Given the description of an element on the screen output the (x, y) to click on. 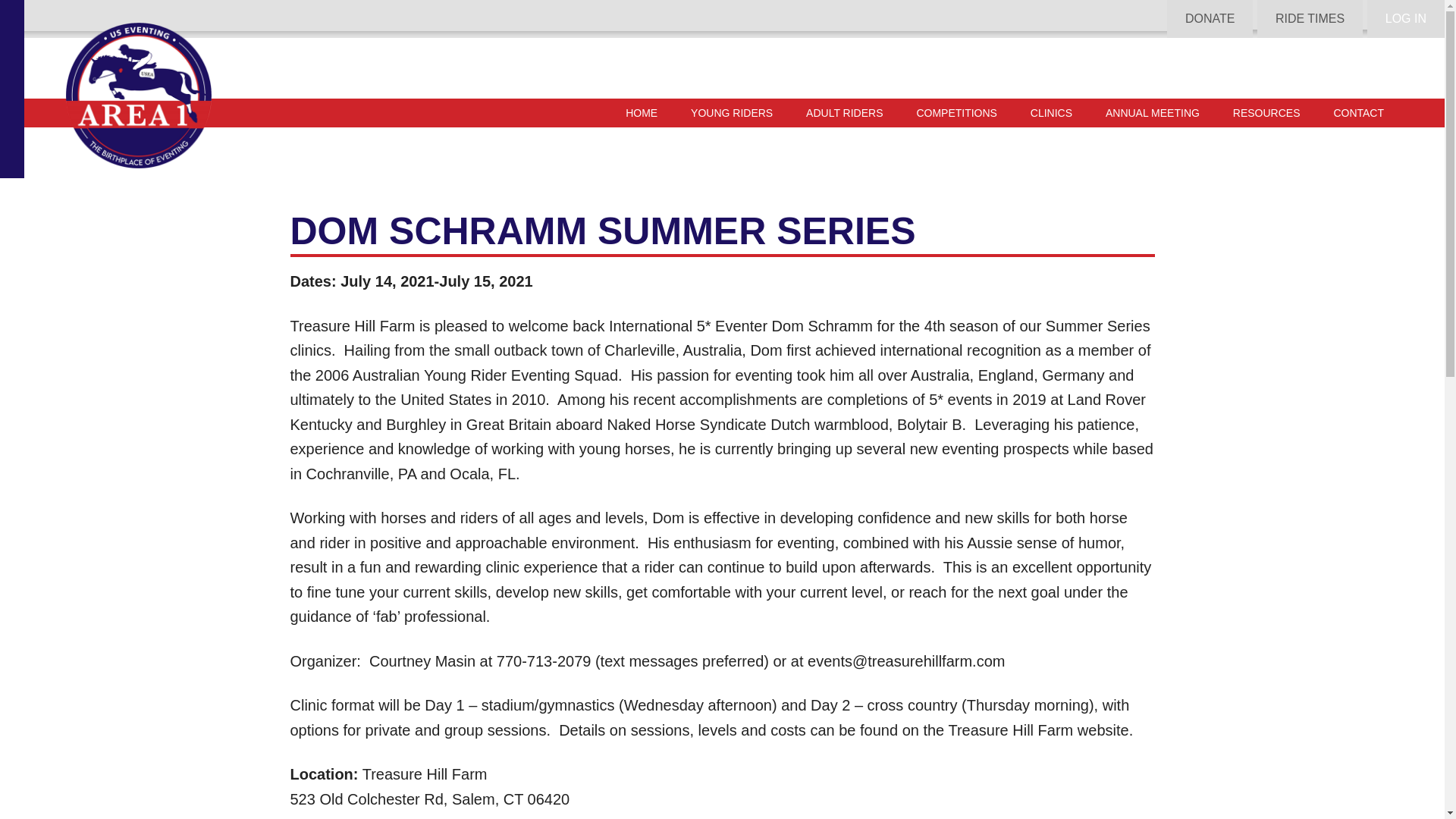
RIDE TIMES (1309, 18)
LOG IN (1406, 18)
CLINICS (1050, 112)
HOME (641, 112)
YOUNG RIDERS (731, 112)
DONATE (1209, 17)
COMPETITIONS (956, 112)
DONATE (1209, 18)
RIDE TIMES (1309, 17)
